Given the description of an element on the screen output the (x, y) to click on. 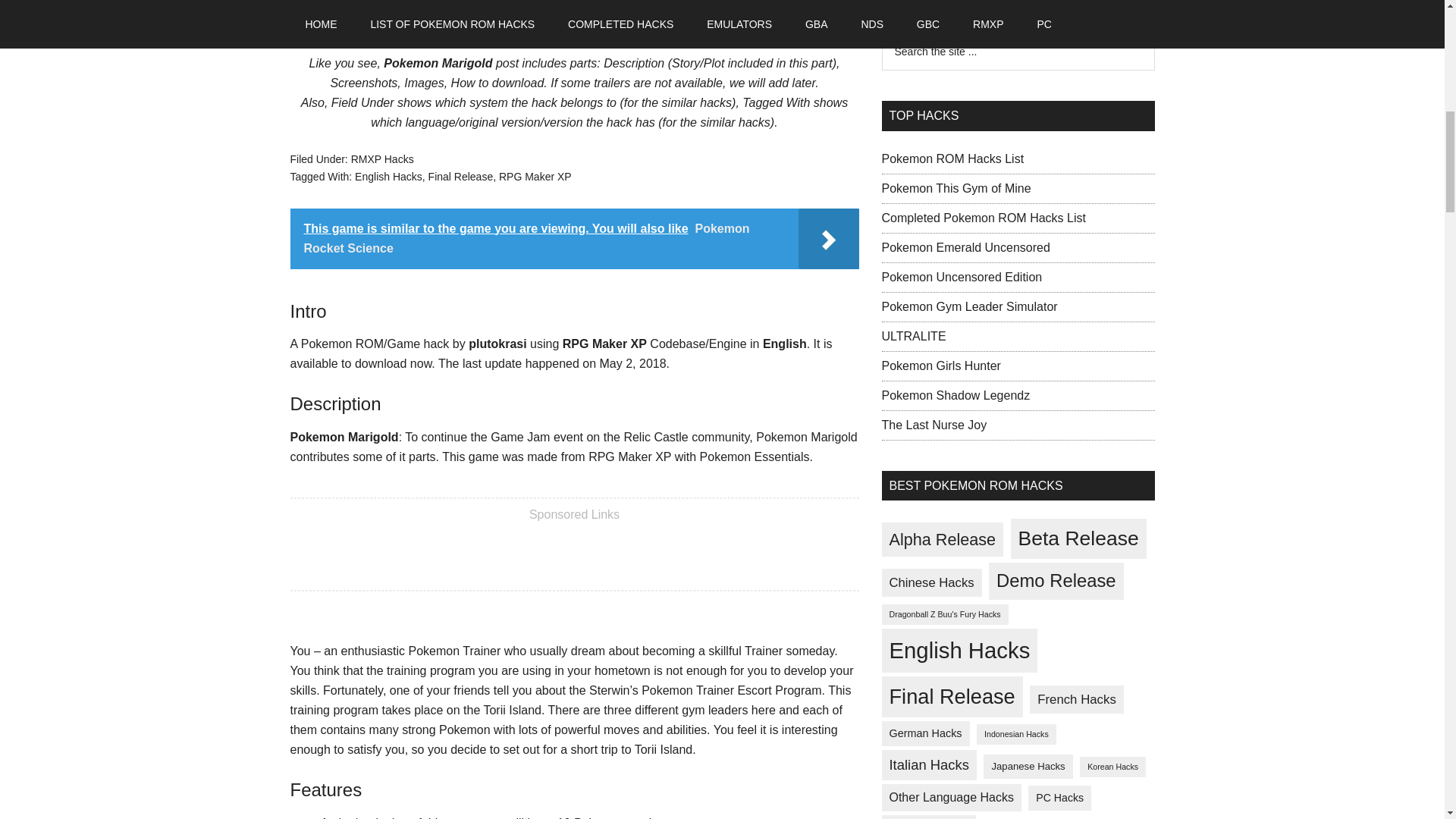
RMXP Hacks (381, 159)
English Hacks (388, 176)
RPG Maker XP (535, 176)
Final Release (460, 176)
